Given the description of an element on the screen output the (x, y) to click on. 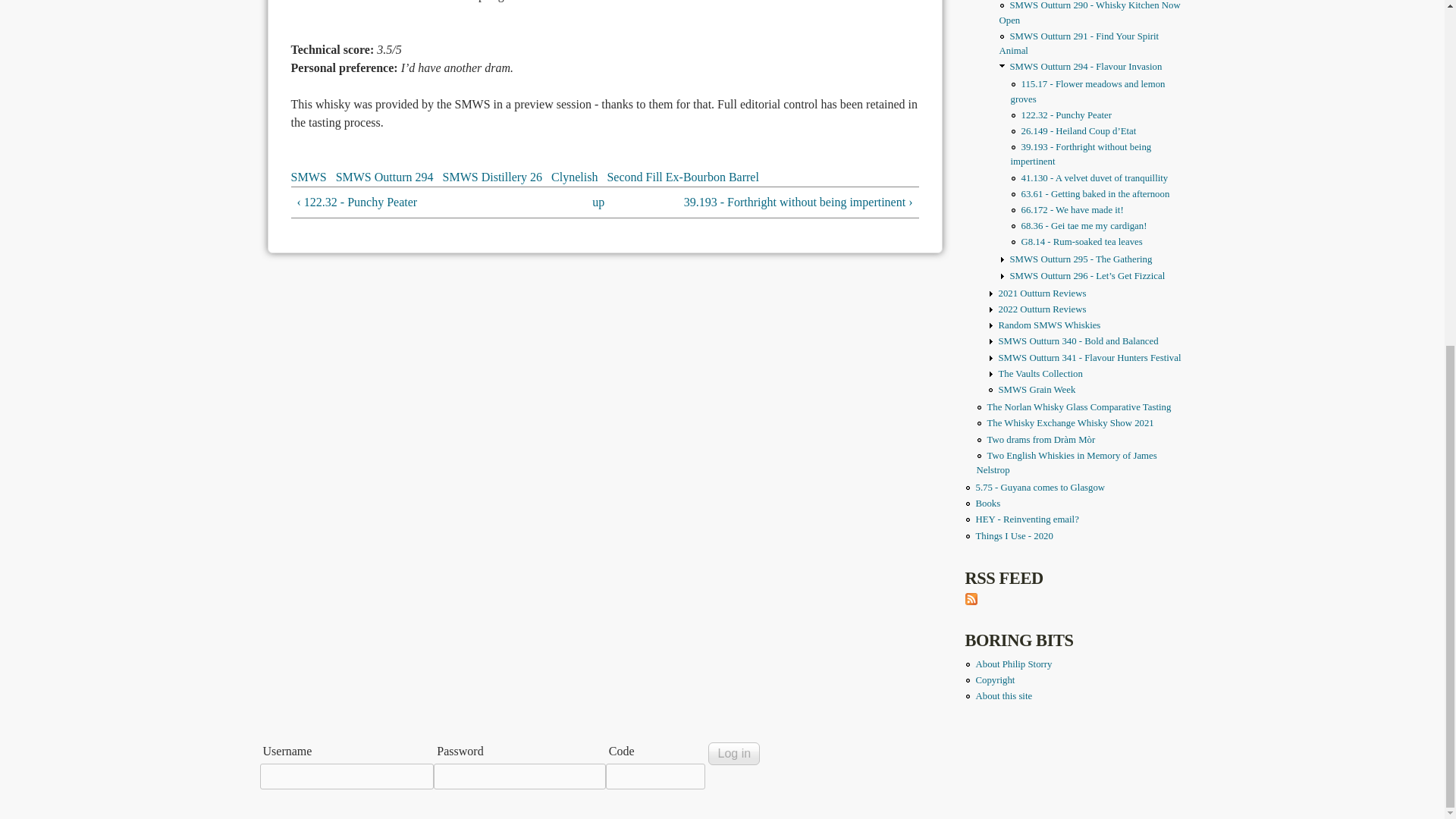
Subscribe to Syndicate (969, 600)
up (598, 202)
Go to previous page (426, 202)
Log in (733, 753)
SMWS Distillery 26 (492, 176)
Clynelish (573, 176)
Second Fill Ex-Bourbon Barrel (682, 176)
Go to next page (782, 202)
SMWS (308, 176)
SMWS Outturn 294 (384, 176)
